Given the description of an element on the screen output the (x, y) to click on. 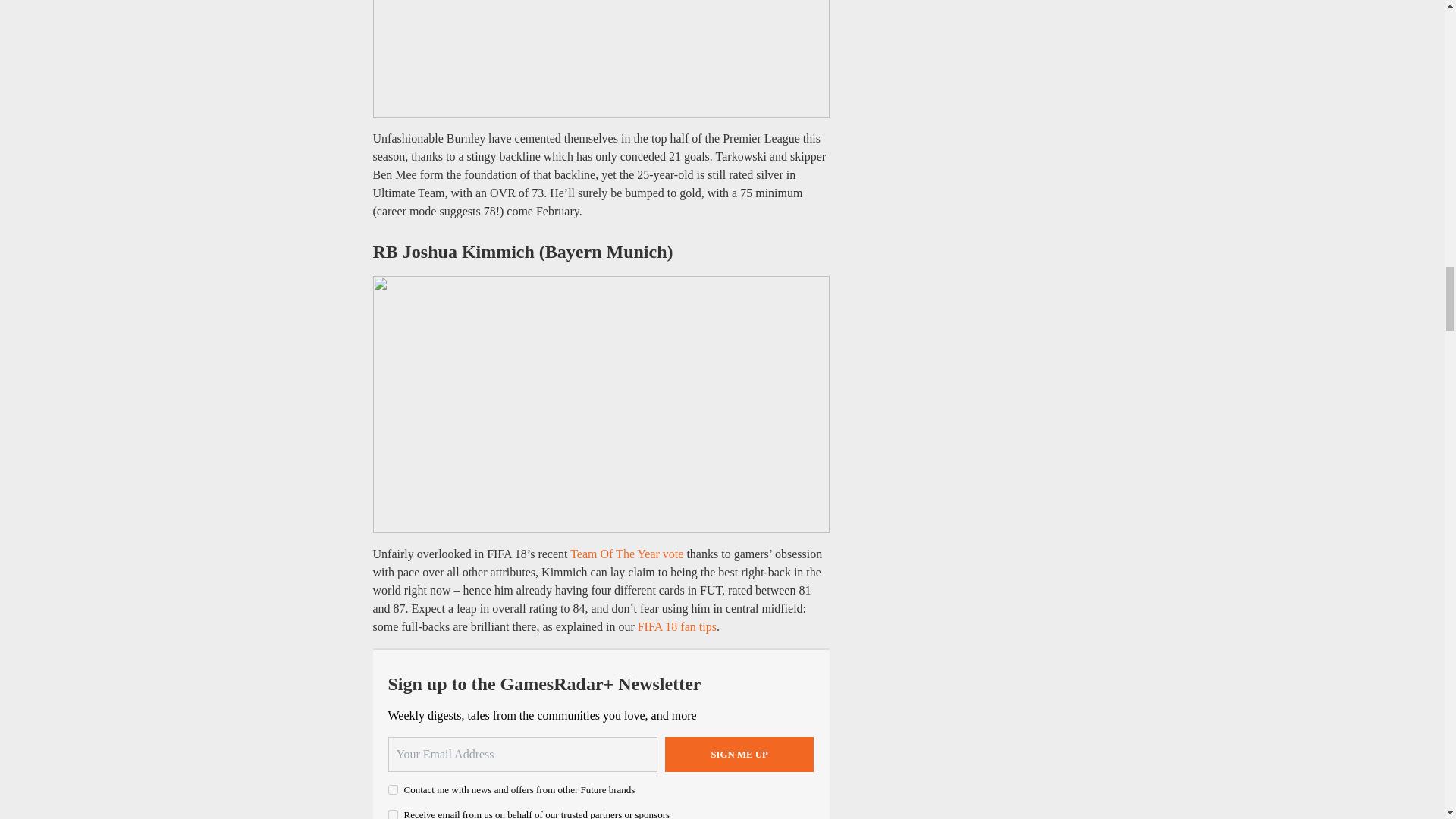
on (392, 814)
on (392, 789)
Sign me up (739, 754)
